Given the description of an element on the screen output the (x, y) to click on. 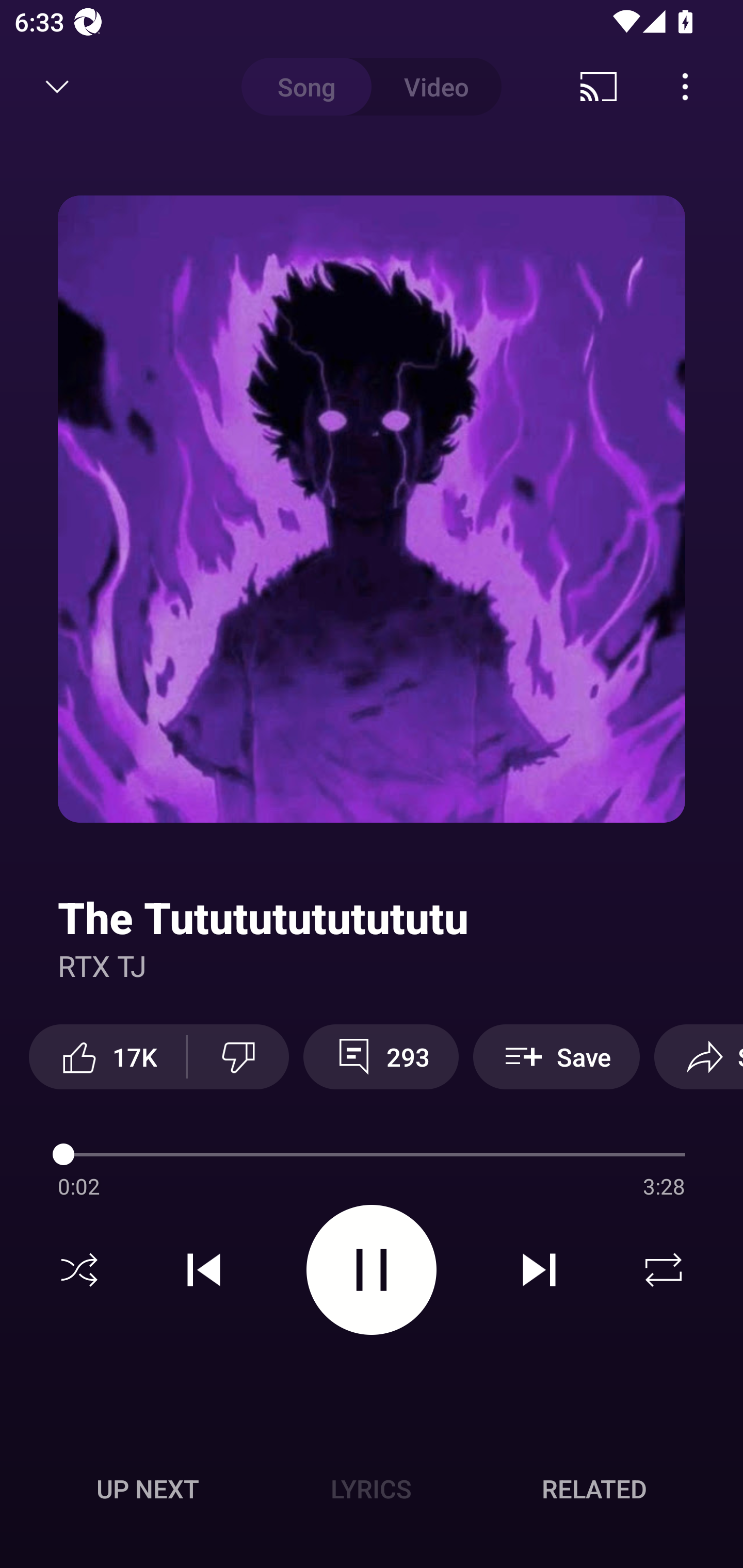
Minimize (57, 86)
Cast. Disconnected (598, 86)
Menu (684, 86)
17K like this video along with 17,363 other people (106, 1056)
Dislike (238, 1056)
293 View 293 comments (380, 1056)
Save Save to playlist (556, 1056)
Share (698, 1056)
Pause video (371, 1269)
Shuffle off (79, 1269)
Previous track (203, 1269)
Next track (538, 1269)
Repeat off (663, 1269)
Up next UP NEXT Lyrics LYRICS Related RELATED (371, 1491)
Lyrics LYRICS (370, 1488)
Related RELATED (594, 1488)
